Given the description of an element on the screen output the (x, y) to click on. 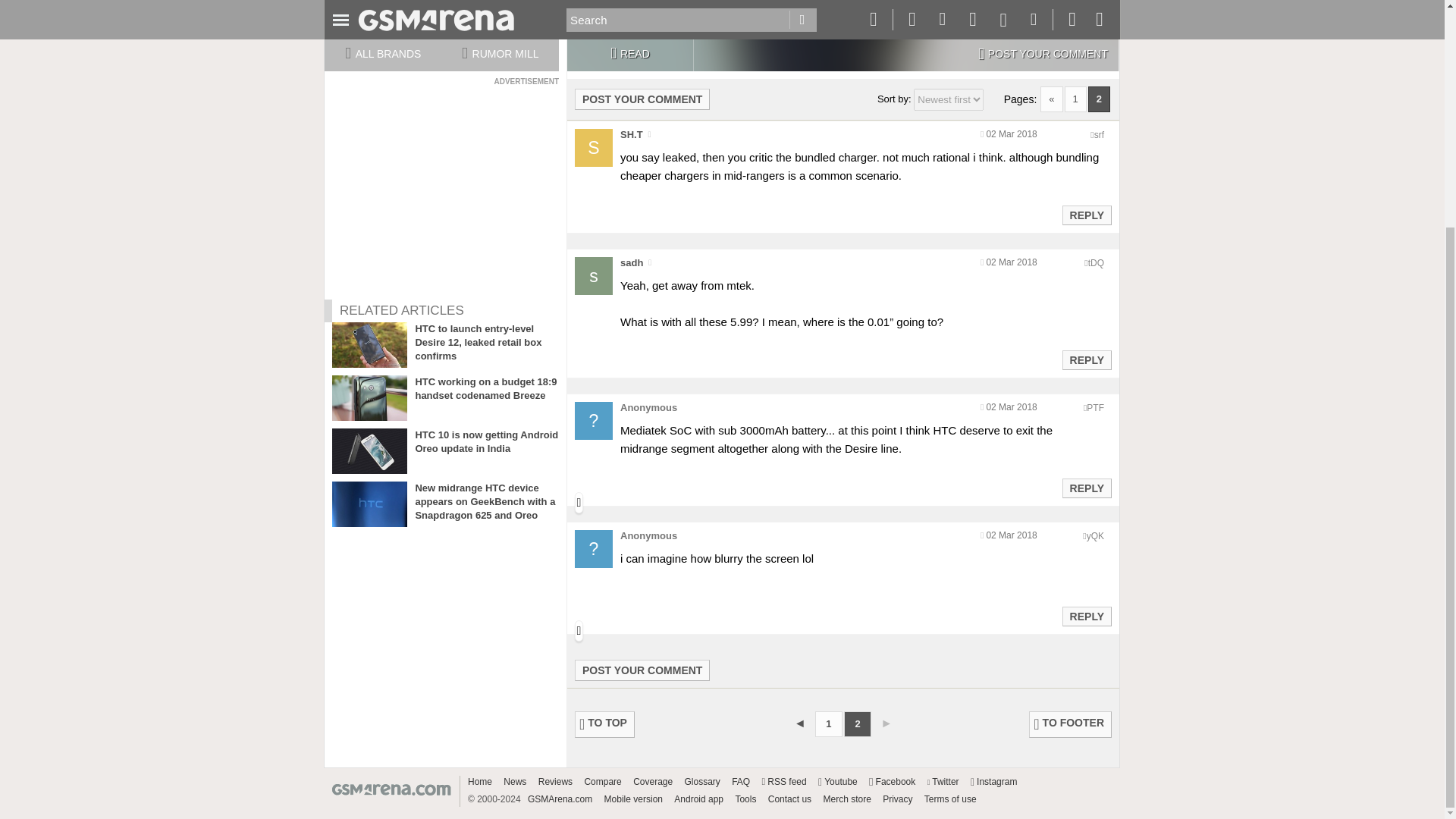
SH.T (631, 134)
Reply to this post (1086, 616)
Encoded anonymized location (1095, 262)
Encoded anonymized location (1098, 134)
Reply to this post (1086, 488)
Reply to this post (1086, 215)
Encoded anonymized location (1094, 535)
Previous page (799, 723)
Reply to this post (1086, 359)
REPLY (1086, 360)
POST YOUR COMMENT (642, 98)
READ (630, 54)
sadh (631, 262)
TO TOP (604, 724)
Sort comments by (949, 99)
